Given the description of an element on the screen output the (x, y) to click on. 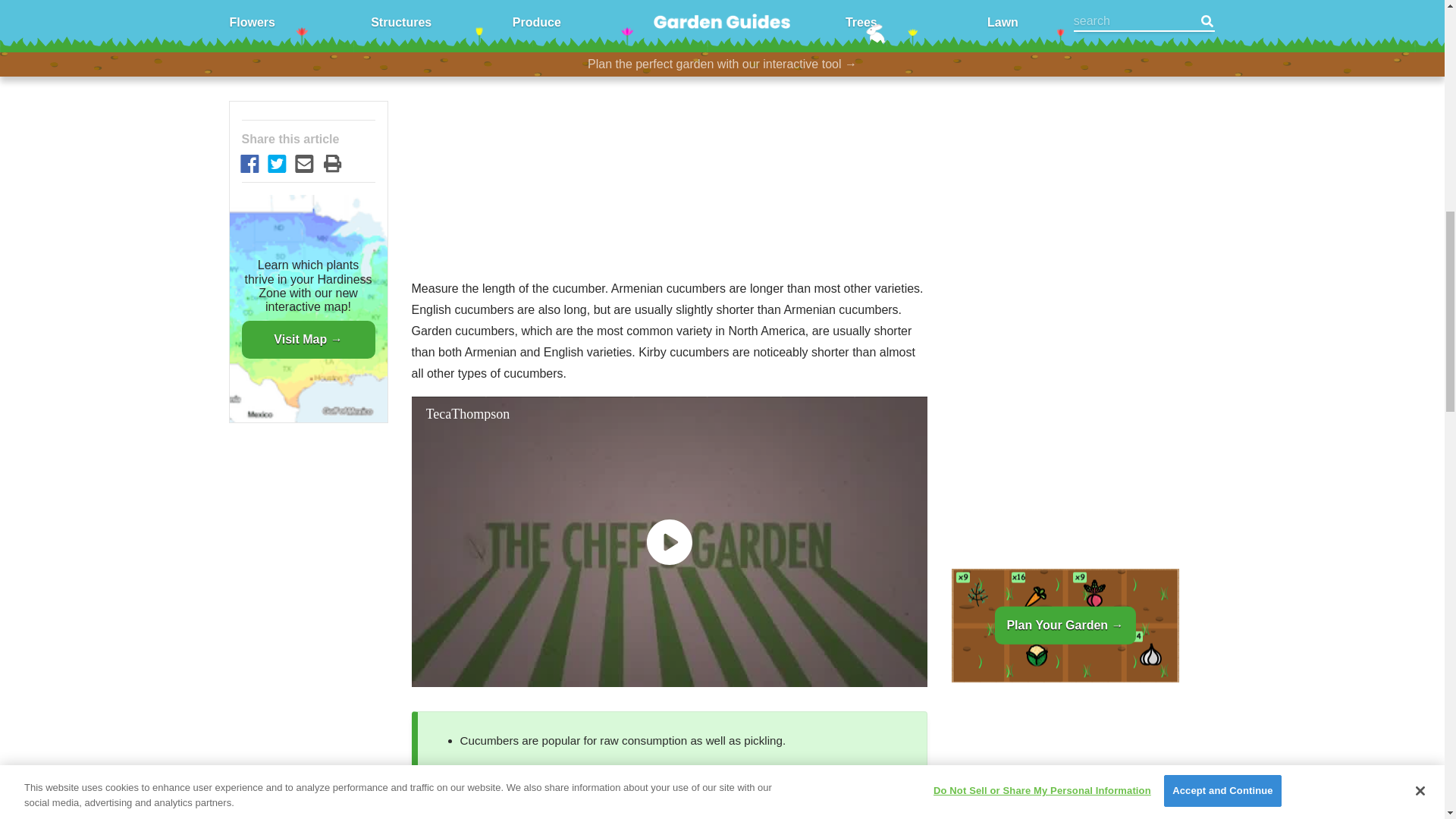
3rd party ad content (1063, 48)
3rd party ad content (668, 20)
